Given the description of an element on the screen output the (x, y) to click on. 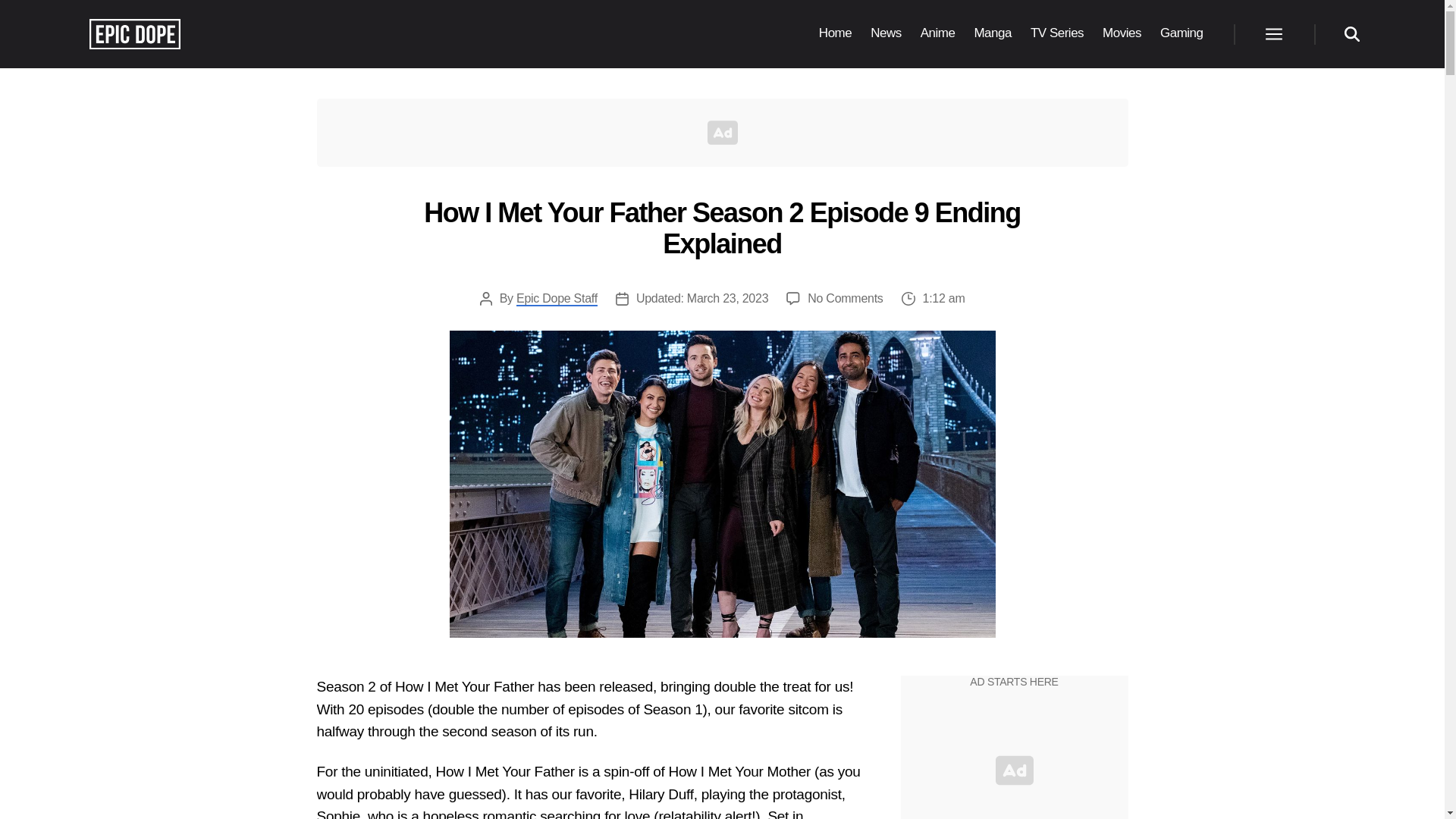
Epic Dope Staff (556, 298)
Manga (992, 33)
Menu (1273, 33)
Search (1351, 33)
Gaming (1182, 33)
Movies (1121, 33)
TV Series (1056, 33)
Anime (937, 33)
Home (834, 33)
News (885, 33)
